Given the description of an element on the screen output the (x, y) to click on. 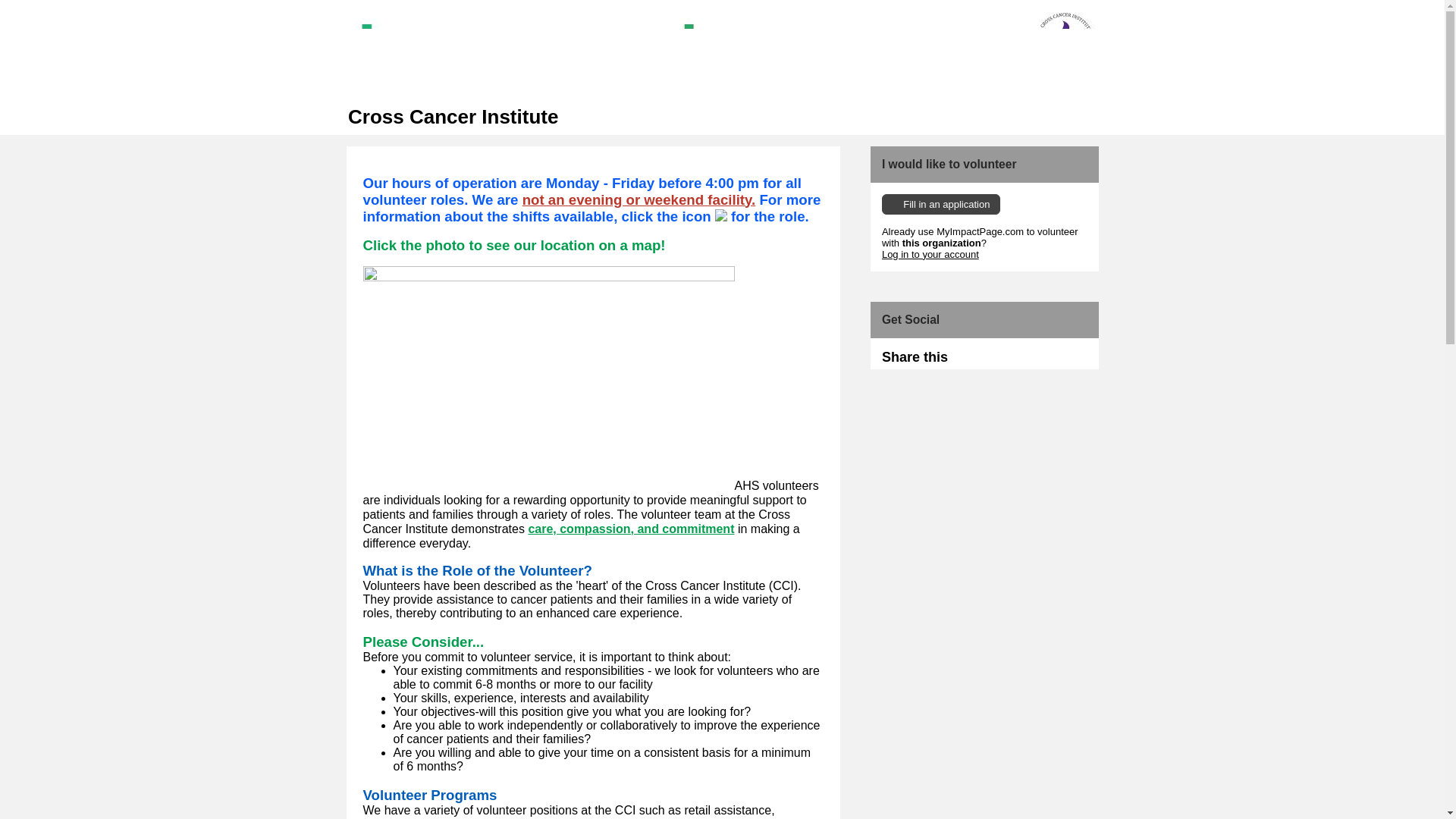
Cross Cancer Institute's Home Page (722, 52)
Log in to your account (930, 254)
Fill in an application (941, 204)
